Given the description of an element on the screen output the (x, y) to click on. 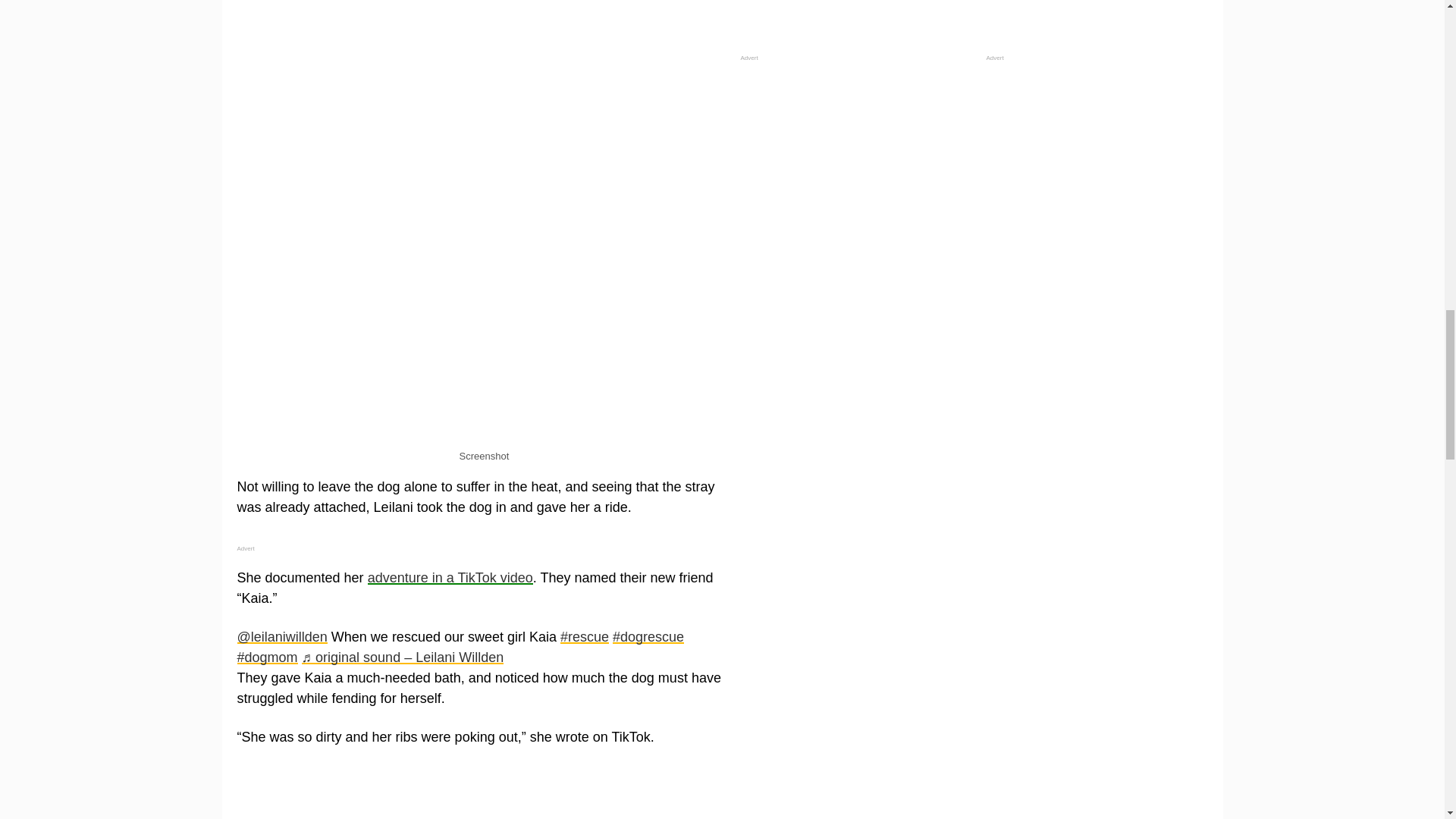
adventure in a TikTok video (450, 577)
dogrescue (648, 636)
dogmom (266, 657)
rescue (584, 636)
